Given the description of an element on the screen output the (x, y) to click on. 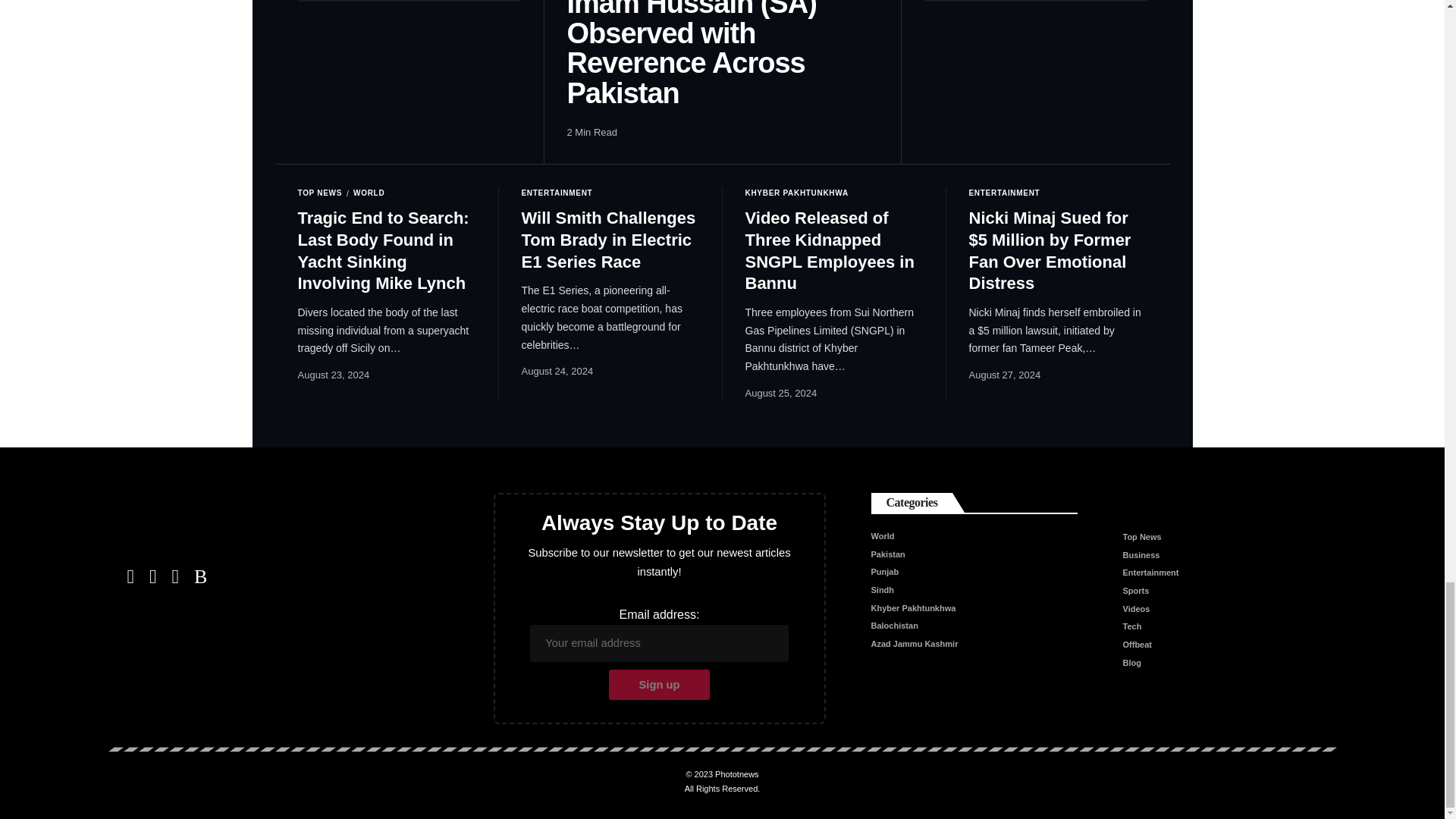
Sign up (659, 684)
